Given the description of an element on the screen output the (x, y) to click on. 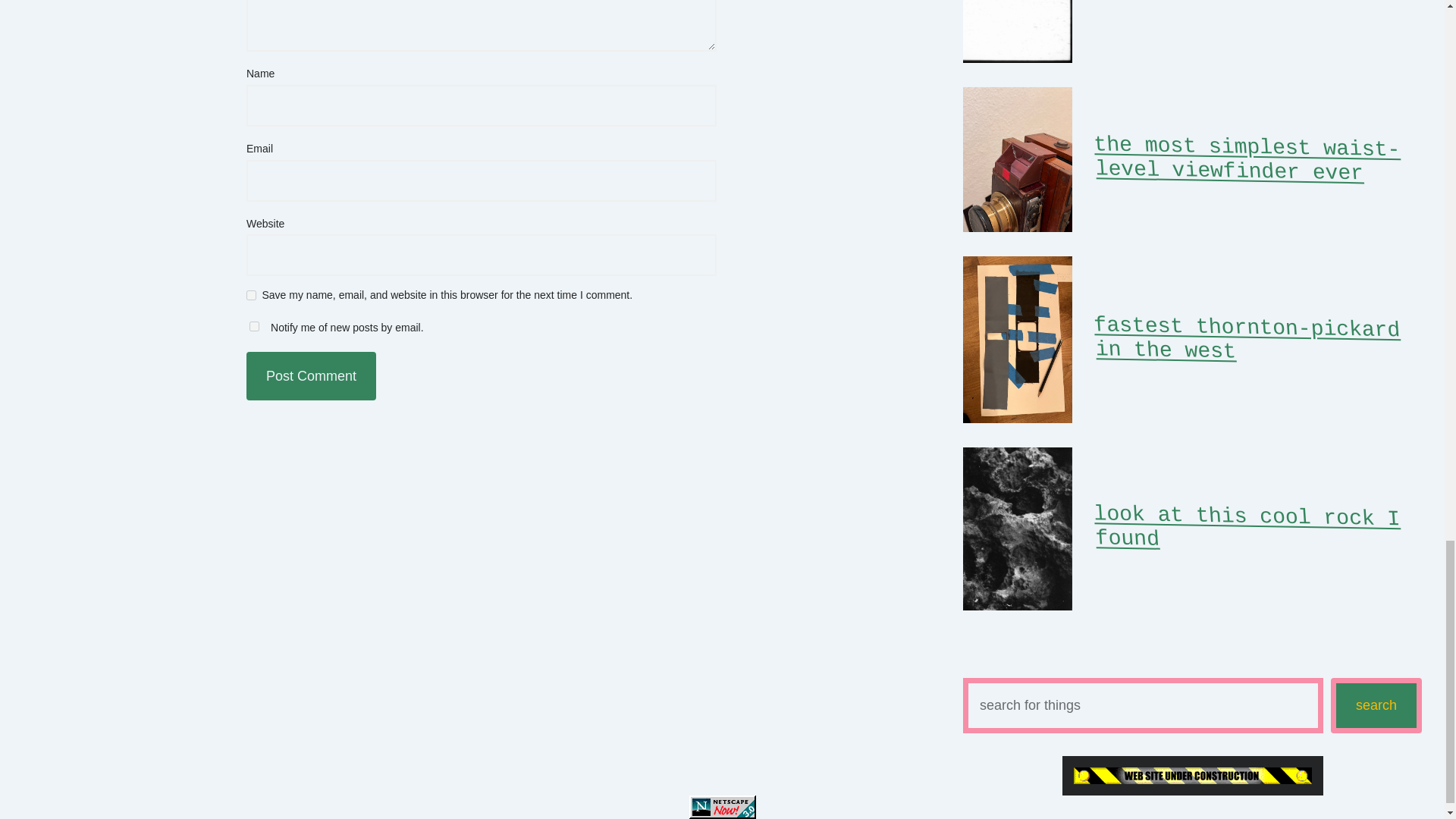
Post Comment (310, 376)
subscribe (253, 326)
yes (251, 295)
Post Comment (310, 376)
